Given the description of an element on the screen output the (x, y) to click on. 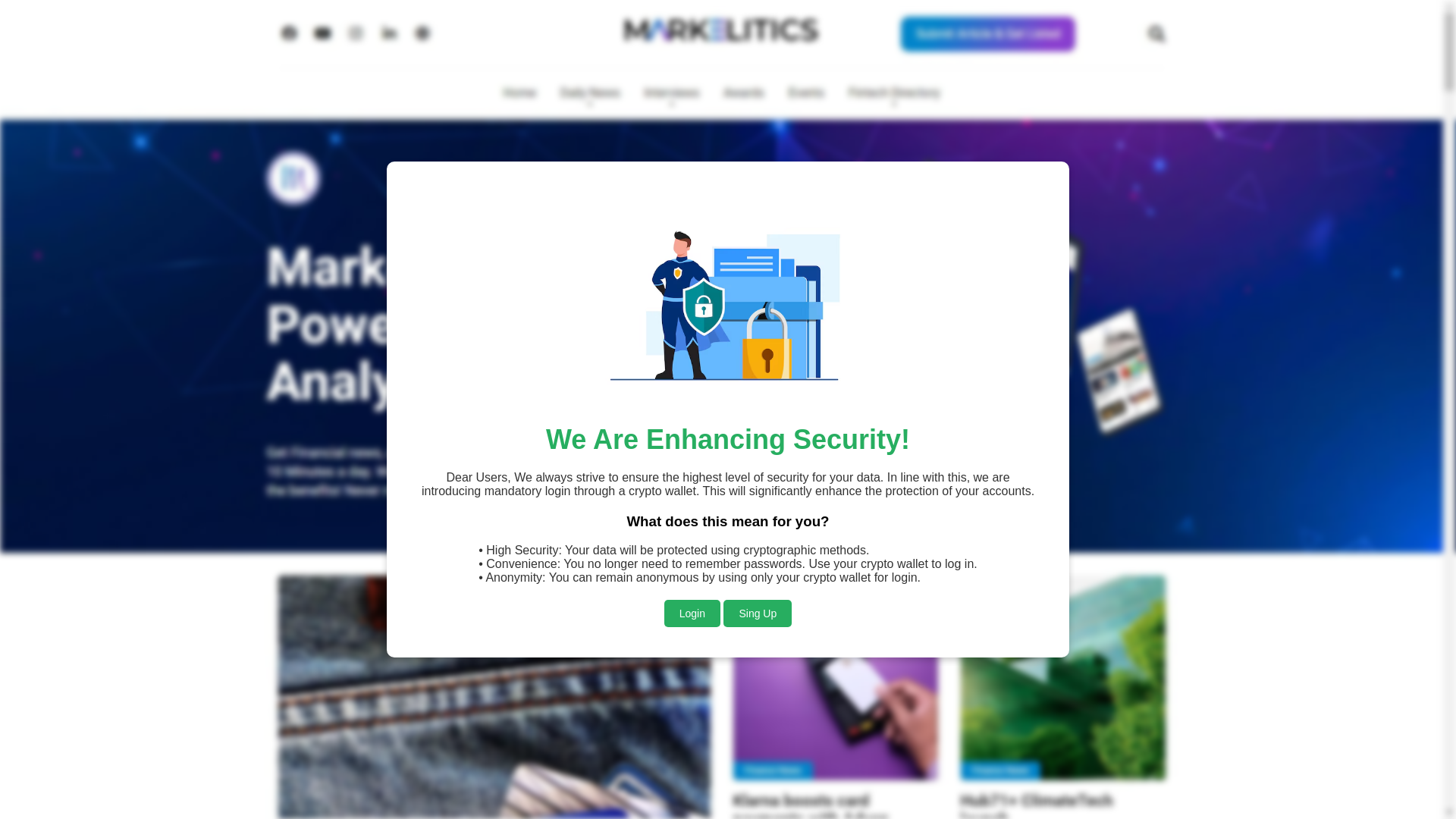
Login (691, 574)
Sing Up (757, 575)
